Given the description of an element on the screen output the (x, y) to click on. 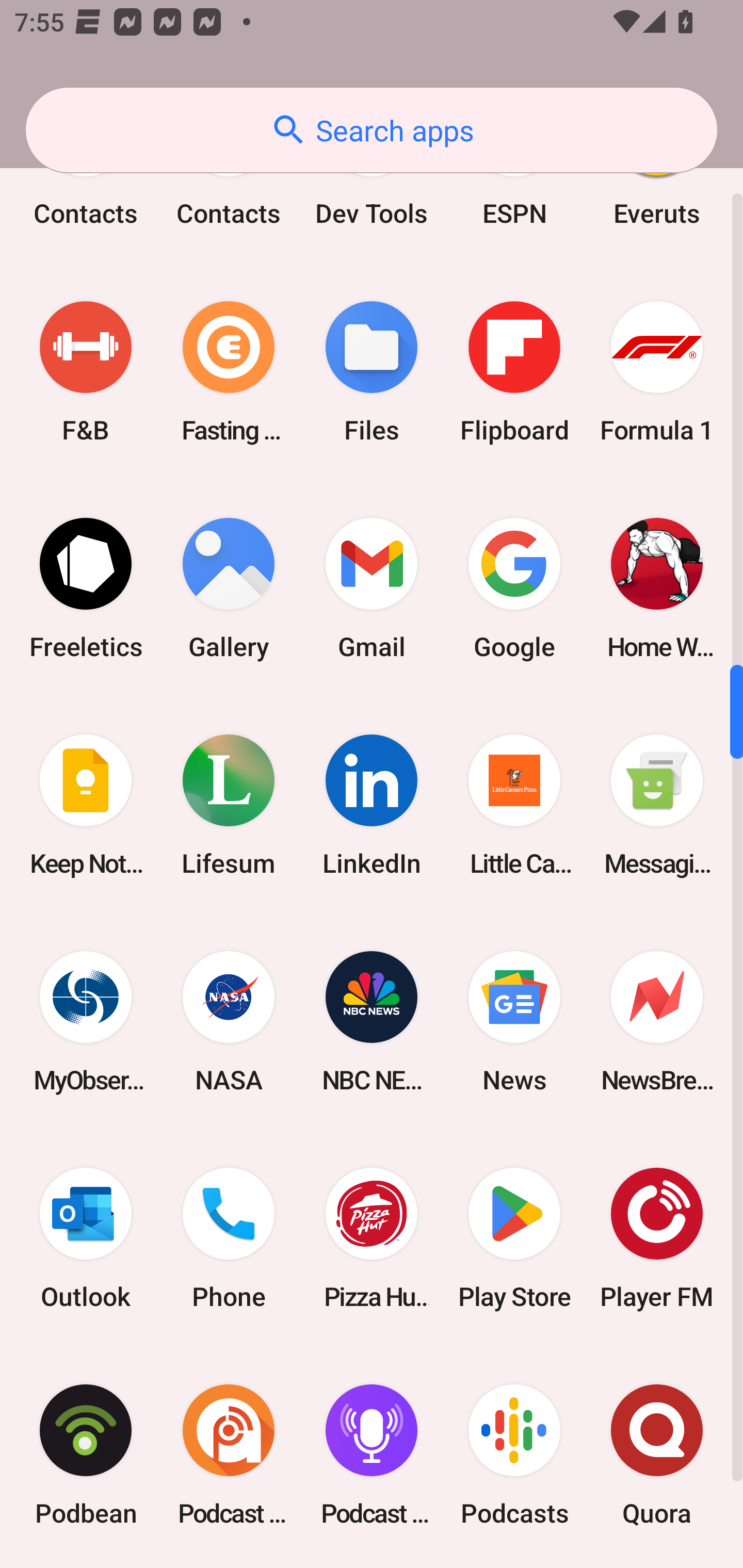
  Search apps (371, 130)
F&B (85, 371)
Fasting Coach (228, 371)
Files (371, 371)
Flipboard (514, 371)
Formula 1 (656, 371)
Freeletics (85, 587)
Gallery (228, 587)
Gmail (371, 587)
Google (514, 587)
Home Workout (656, 587)
Keep Notes (85, 805)
Lifesum (228, 805)
LinkedIn (371, 805)
Little Caesars Pizza (514, 805)
Messaging (656, 805)
MyObservatory (85, 1022)
NASA (228, 1022)
NBC NEWS (371, 1022)
News (514, 1022)
NewsBreak (656, 1022)
Outlook (85, 1238)
Phone (228, 1238)
Pizza Hut HK & Macau (371, 1238)
Play Store (514, 1238)
Player FM (656, 1238)
Podbean (85, 1454)
Podcast Addict (228, 1454)
Podcast Player (371, 1454)
Podcasts (514, 1454)
Quora (656, 1454)
Reddit (85, 1565)
Search (228, 1565)
Settings (371, 1565)
SmartNews (514, 1565)
Sofascore (656, 1565)
